Given the description of an element on the screen output the (x, y) to click on. 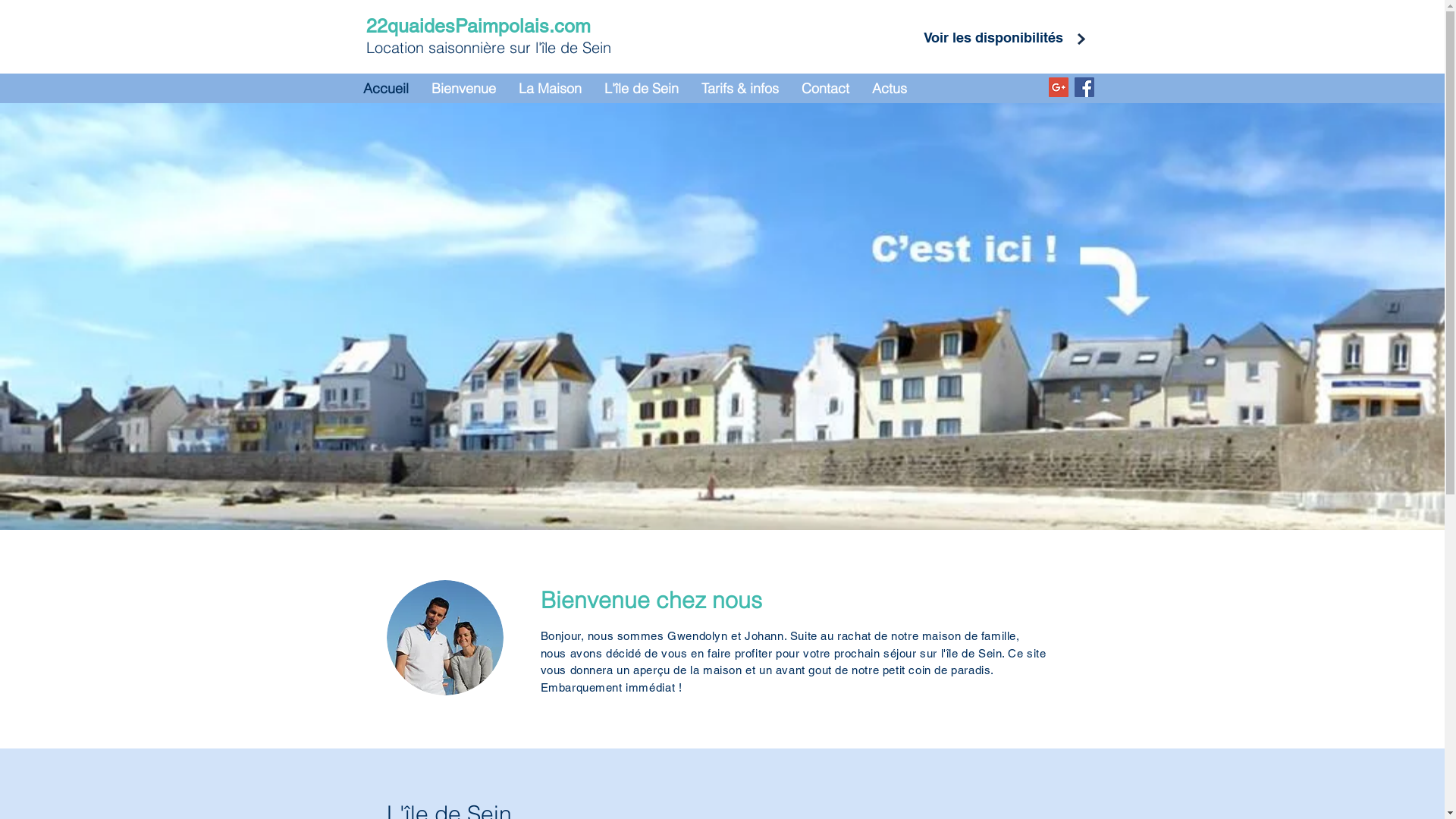
Tarifs & infos Element type: text (740, 88)
Actus Element type: text (888, 88)
Contact Element type: text (825, 88)
22quaidesPaimpolais.com Element type: text (477, 26)
Accueil Element type: text (385, 88)
La Maison Element type: text (549, 88)
Bienvenue Element type: text (463, 88)
